Given the description of an element on the screen output the (x, y) to click on. 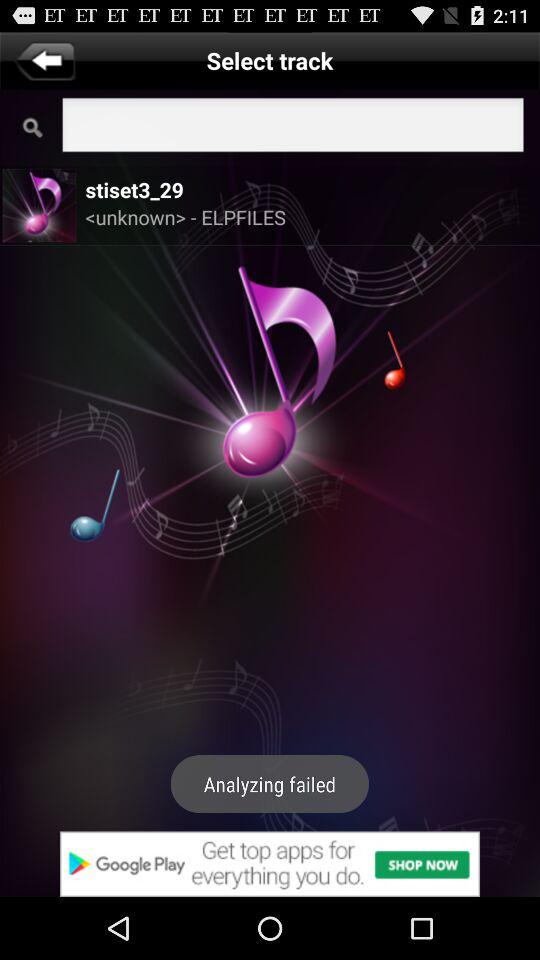
go to advertisements website (270, 864)
